Given the description of an element on the screen output the (x, y) to click on. 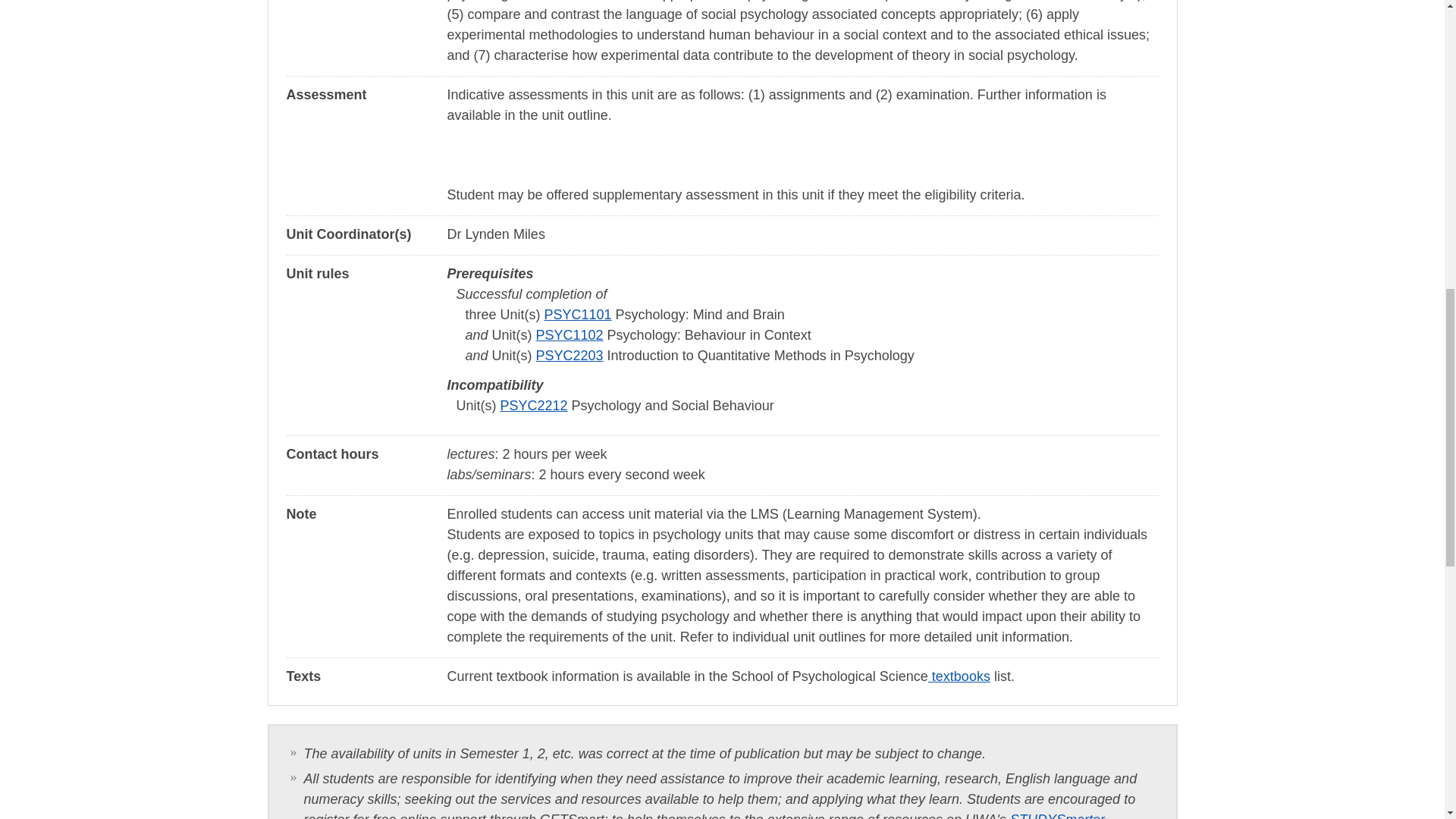
PSYC2212 (533, 405)
PSYC2203 (569, 355)
textbooks (959, 676)
PSYC1102 (569, 335)
PSYC1101 (577, 314)
STUDYSmarter (1057, 815)
